Given the description of an element on the screen output the (x, y) to click on. 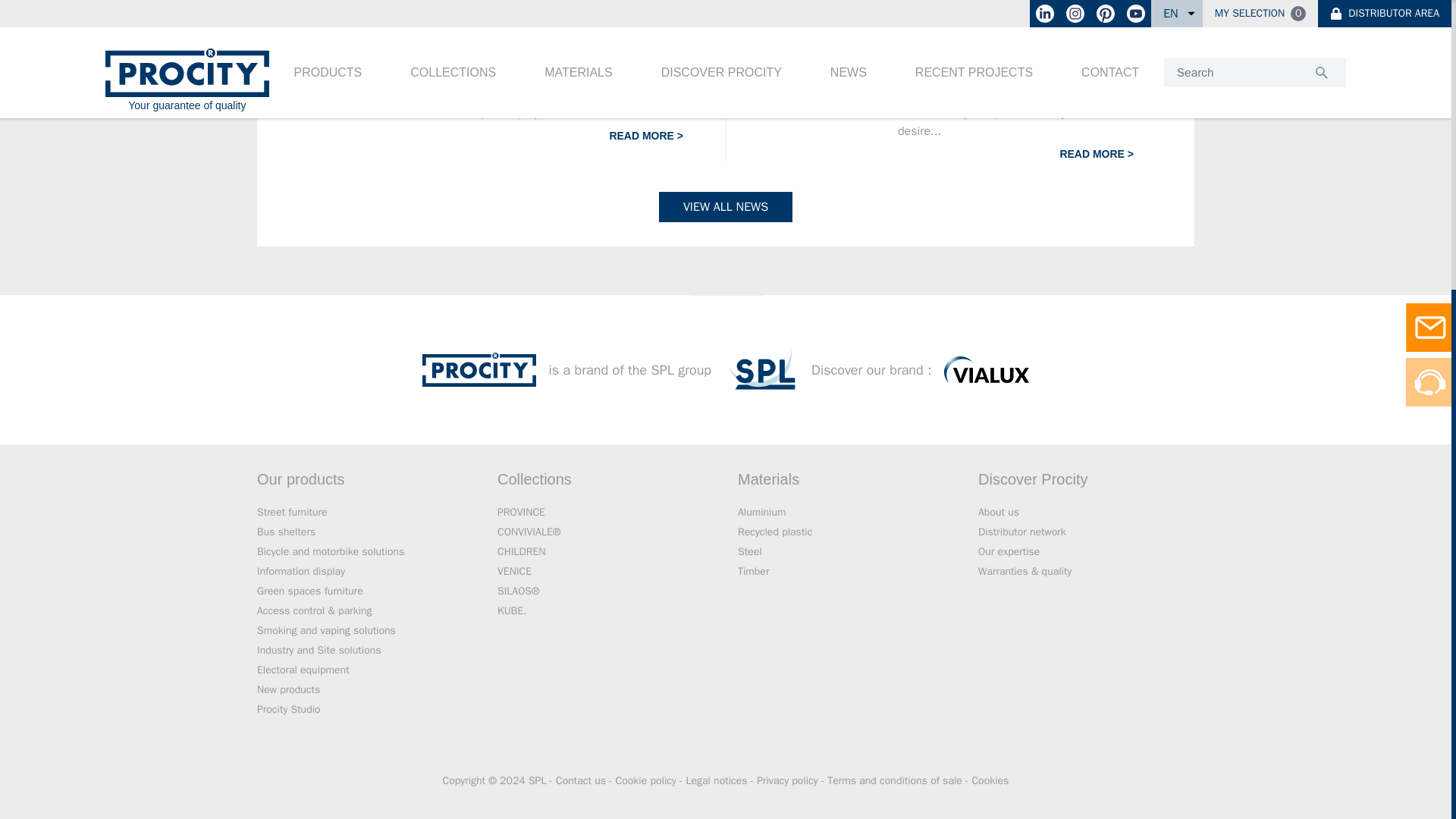
SPL (761, 369)
Procity (478, 369)
Vialux (986, 369)
